Given the description of an element on the screen output the (x, y) to click on. 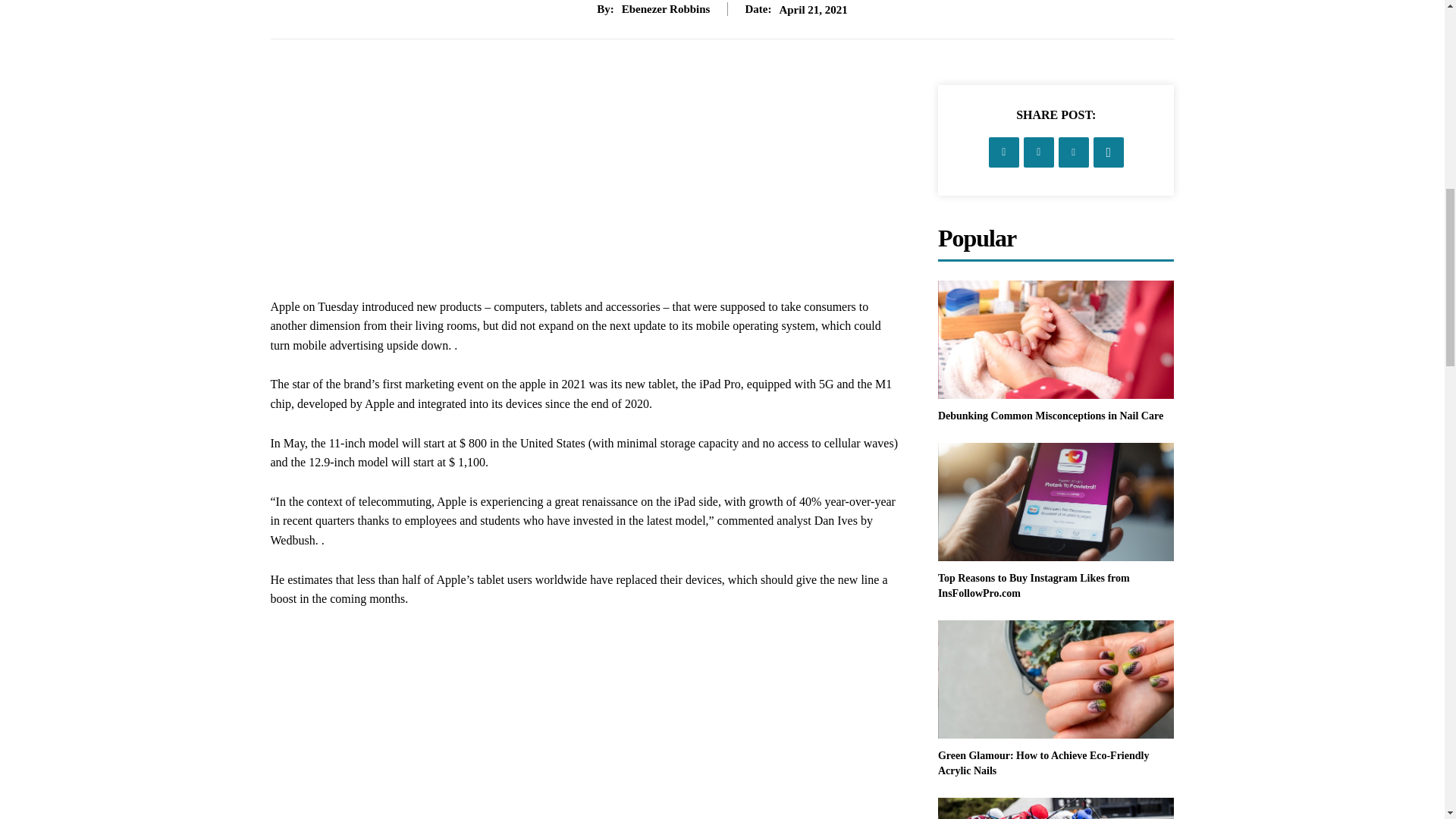
Debunking Common Misconceptions in Nail Care (1050, 415)
Green Glamour: How to Achieve Eco-Friendly Acrylic Nails (1055, 678)
Advertisement (585, 191)
Twitter (1038, 152)
Top Reasons to Buy Instagram Likes from InsFollowPro.com (1055, 502)
Top Reasons to Buy Instagram Likes from InsFollowPro.com (1033, 585)
Pinterest (1073, 152)
WhatsApp (1108, 152)
Facebook (1003, 152)
Debunking Common Misconceptions in Nail Care (1055, 339)
Green Glamour: How to Achieve Eco-Friendly Acrylic Nails (1043, 763)
Advertisement (585, 723)
